Given the description of an element on the screen output the (x, y) to click on. 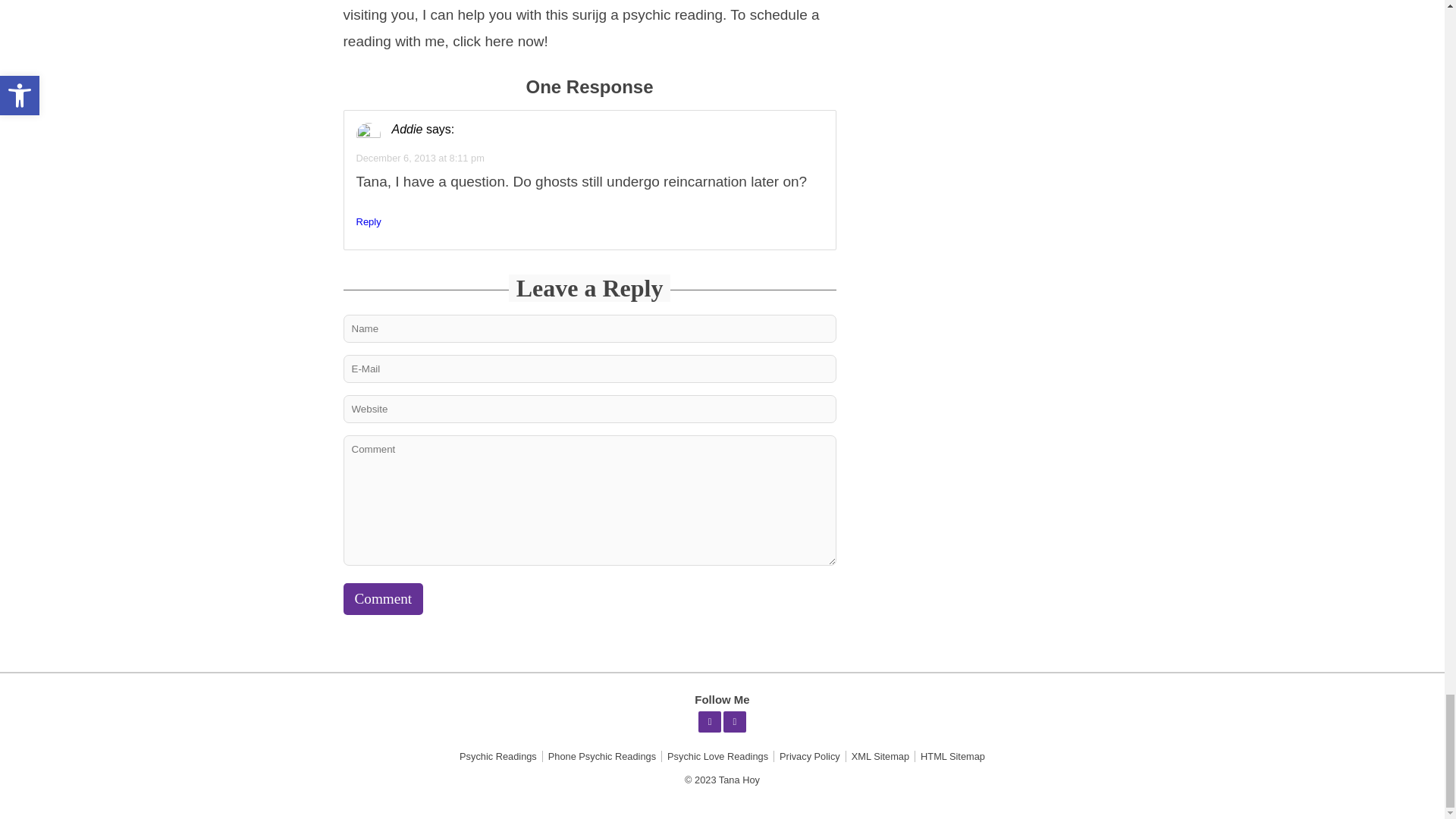
Privacy Policy (809, 756)
Phone Psychic Readings (602, 756)
Reply (368, 221)
December 6, 2013 at 8:11 pm (420, 156)
Psychic Love Readings (717, 756)
Psychic Readings (497, 756)
Comment (382, 599)
XML Sitemap (879, 756)
HTML Sitemap (952, 756)
Comment (382, 599)
